Given the description of an element on the screen output the (x, y) to click on. 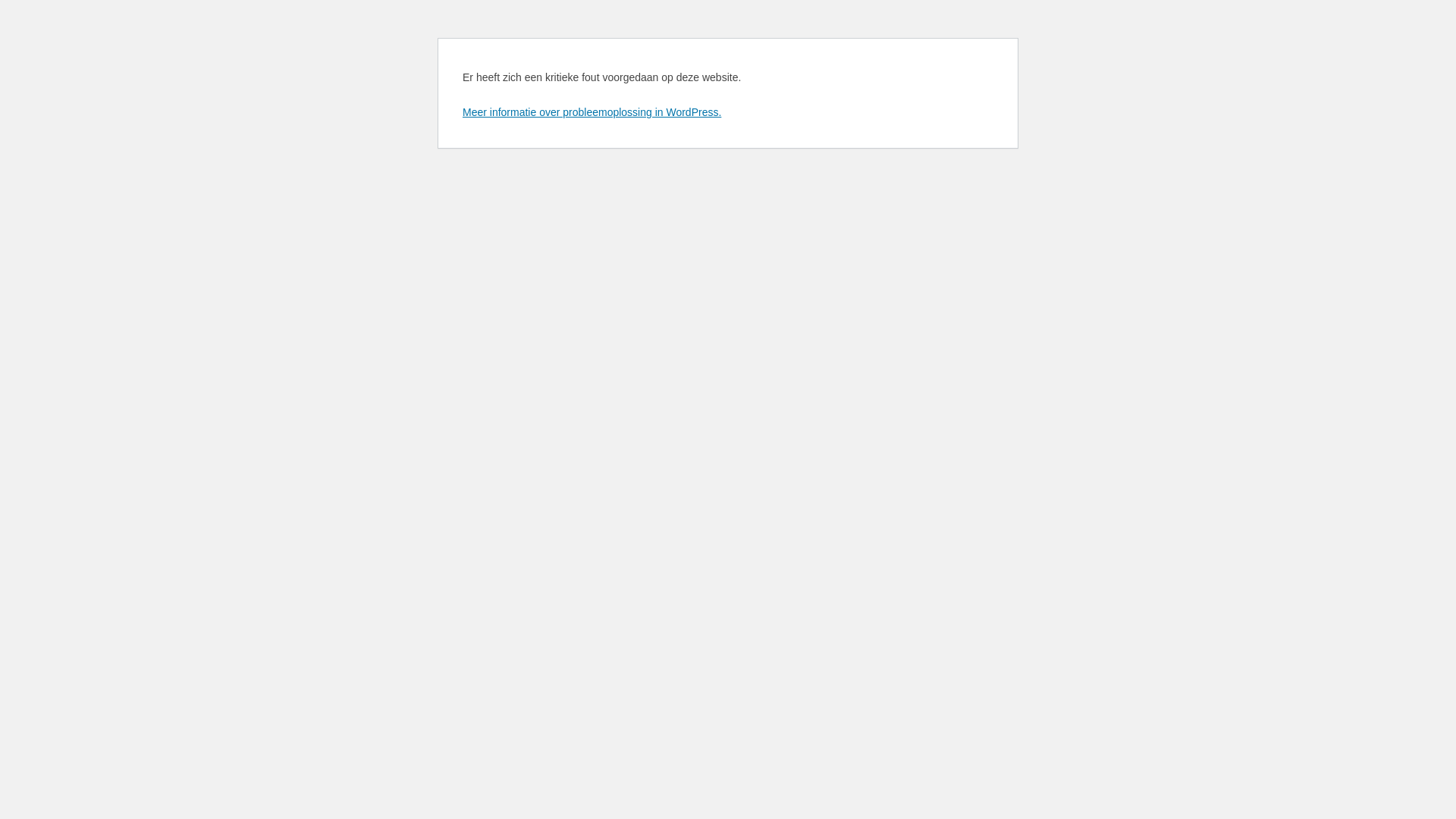
Meer informatie over probleemoplossing in WordPress. Element type: text (591, 112)
